Given the description of an element on the screen output the (x, y) to click on. 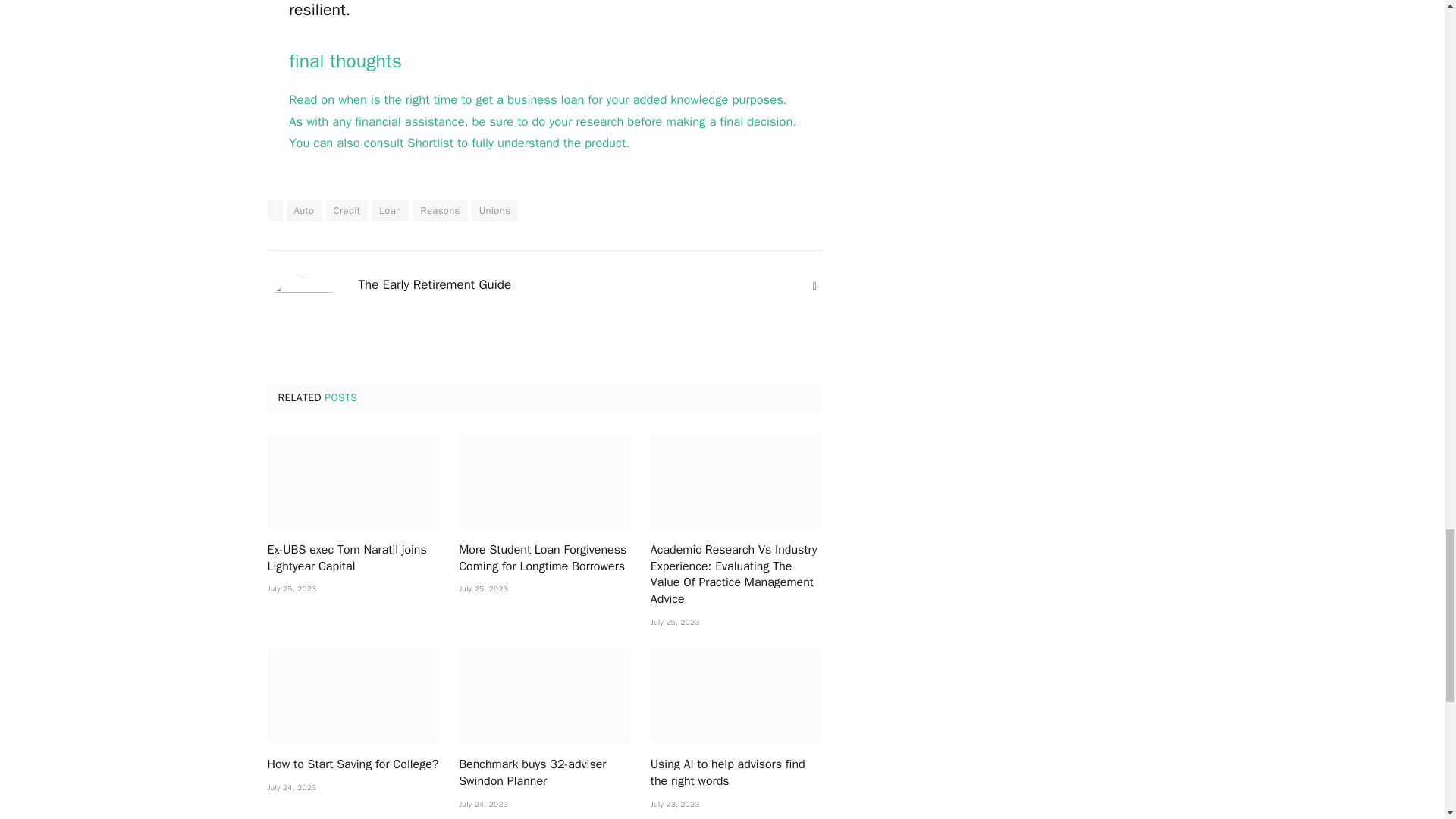
More Student Loan Forgiveness Coming for Longtime Borrowers (544, 481)
Website (814, 286)
Ex-UBS exec Tom Naratil joins Lightyear Capital (352, 481)
Posts by The Early Retirement Guide (434, 284)
